Given the description of an element on the screen output the (x, y) to click on. 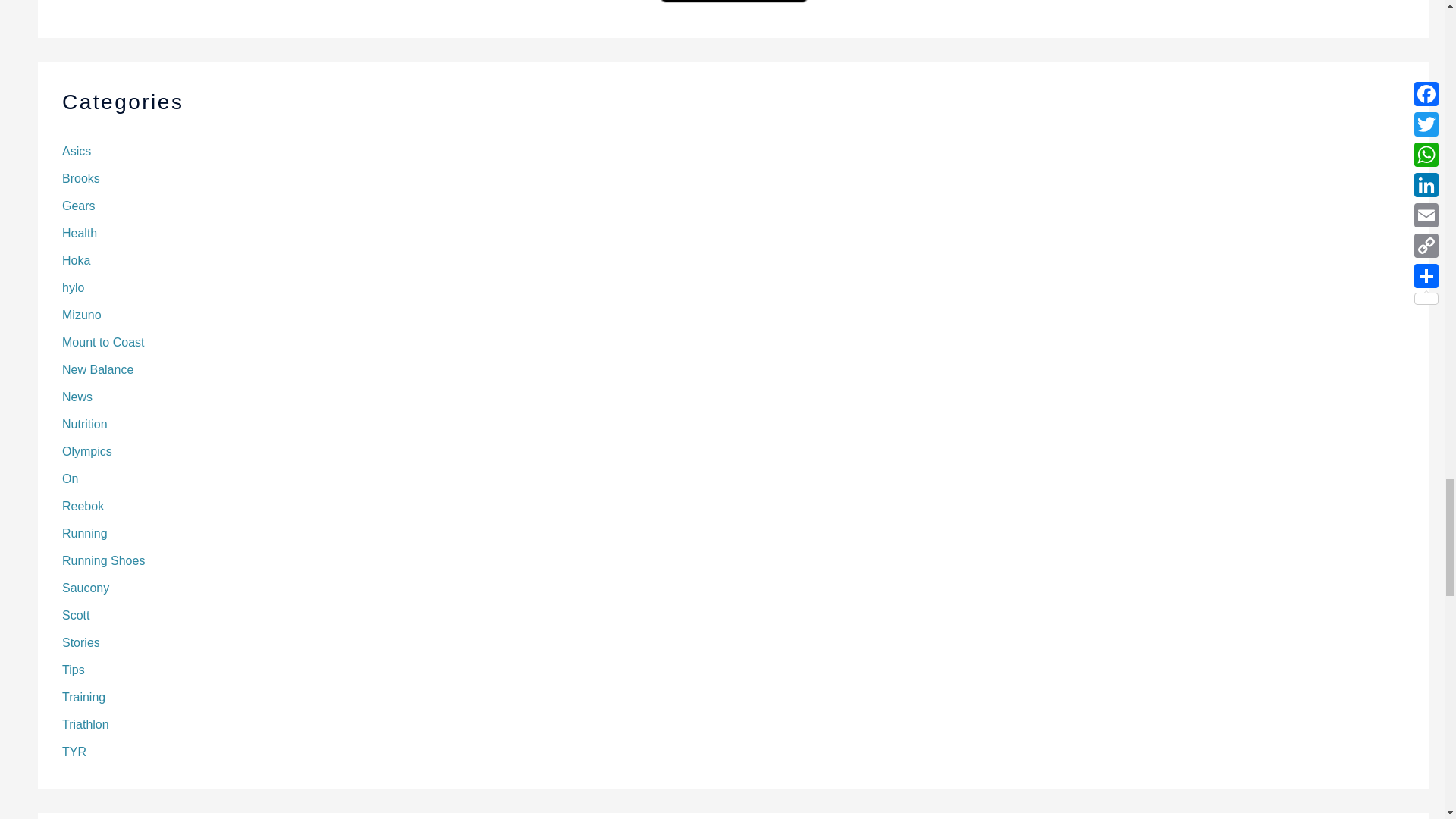
Asics (76, 151)
Health (79, 232)
Brooks (81, 178)
Gears (79, 205)
